Given the description of an element on the screen output the (x, y) to click on. 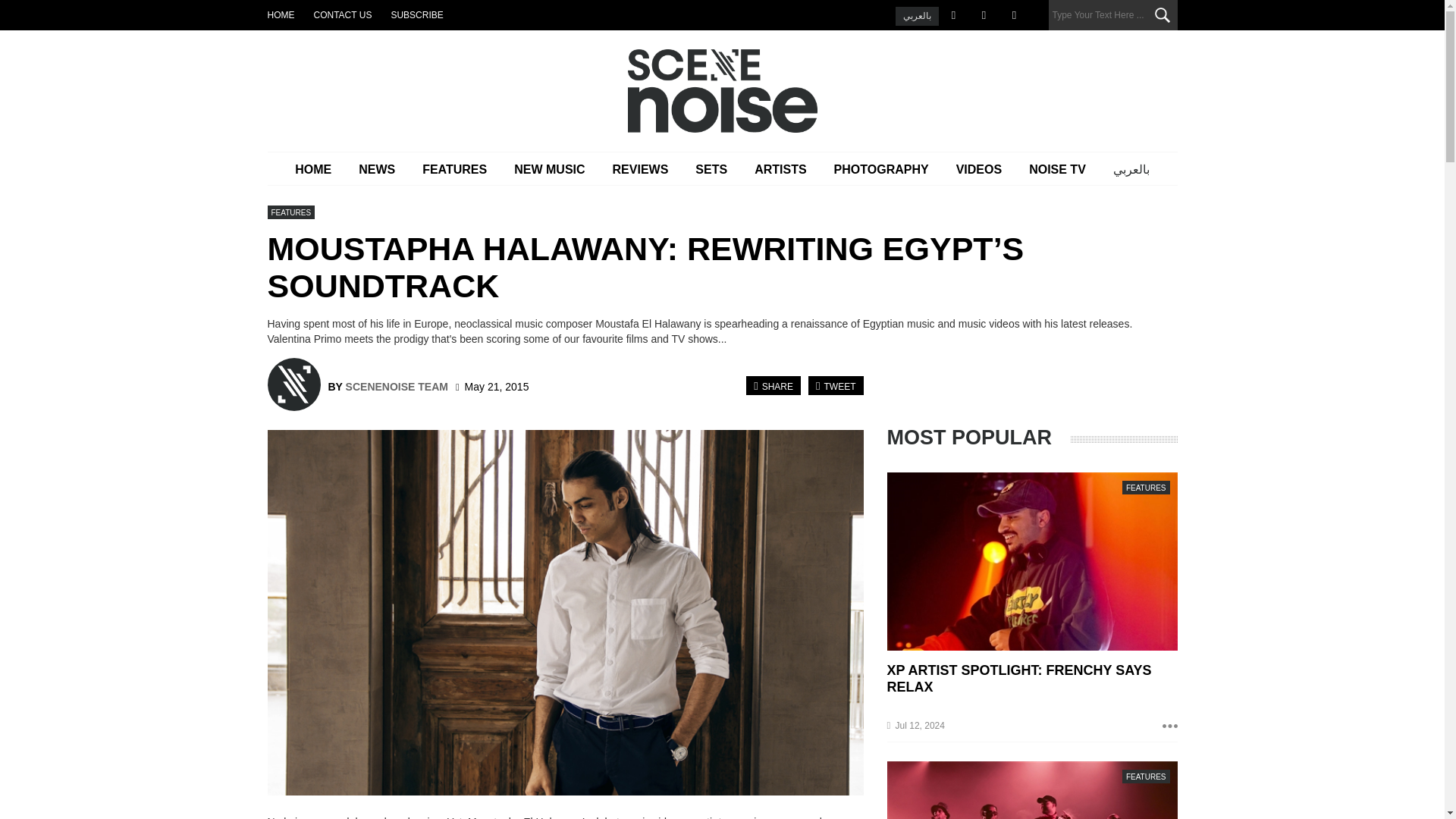
NEWS (377, 169)
REVIEWS (640, 169)
CONTACT US (343, 15)
SETS (711, 169)
SUBSCRIBE (416, 15)
PHOTOGRAPHY (881, 169)
NOISE TV (1056, 169)
ARTISTS (780, 169)
VIDEOS (978, 169)
HOME (280, 15)
NEW MUSIC (549, 169)
FEATURES (454, 169)
HOME (313, 169)
